Given the description of an element on the screen output the (x, y) to click on. 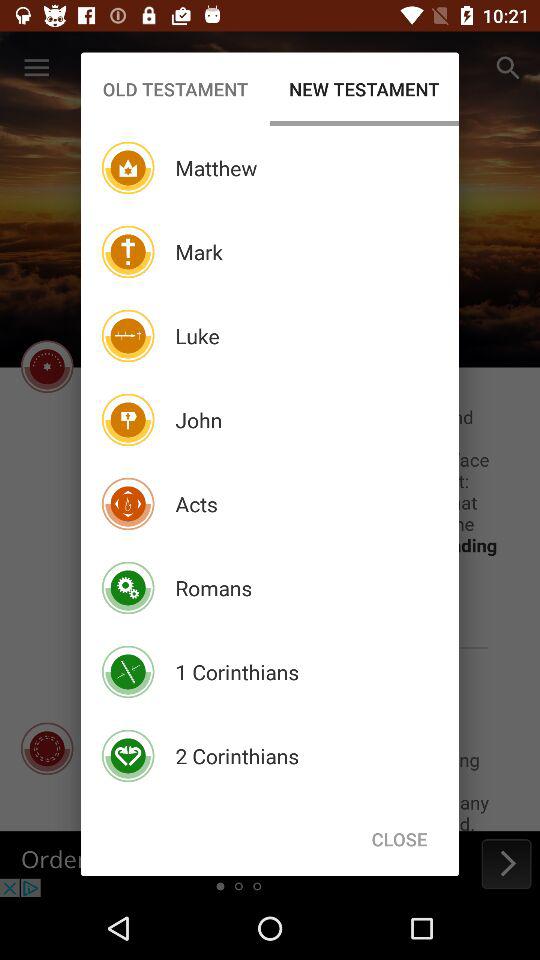
turn off icon below the mark icon (197, 335)
